Given the description of an element on the screen output the (x, y) to click on. 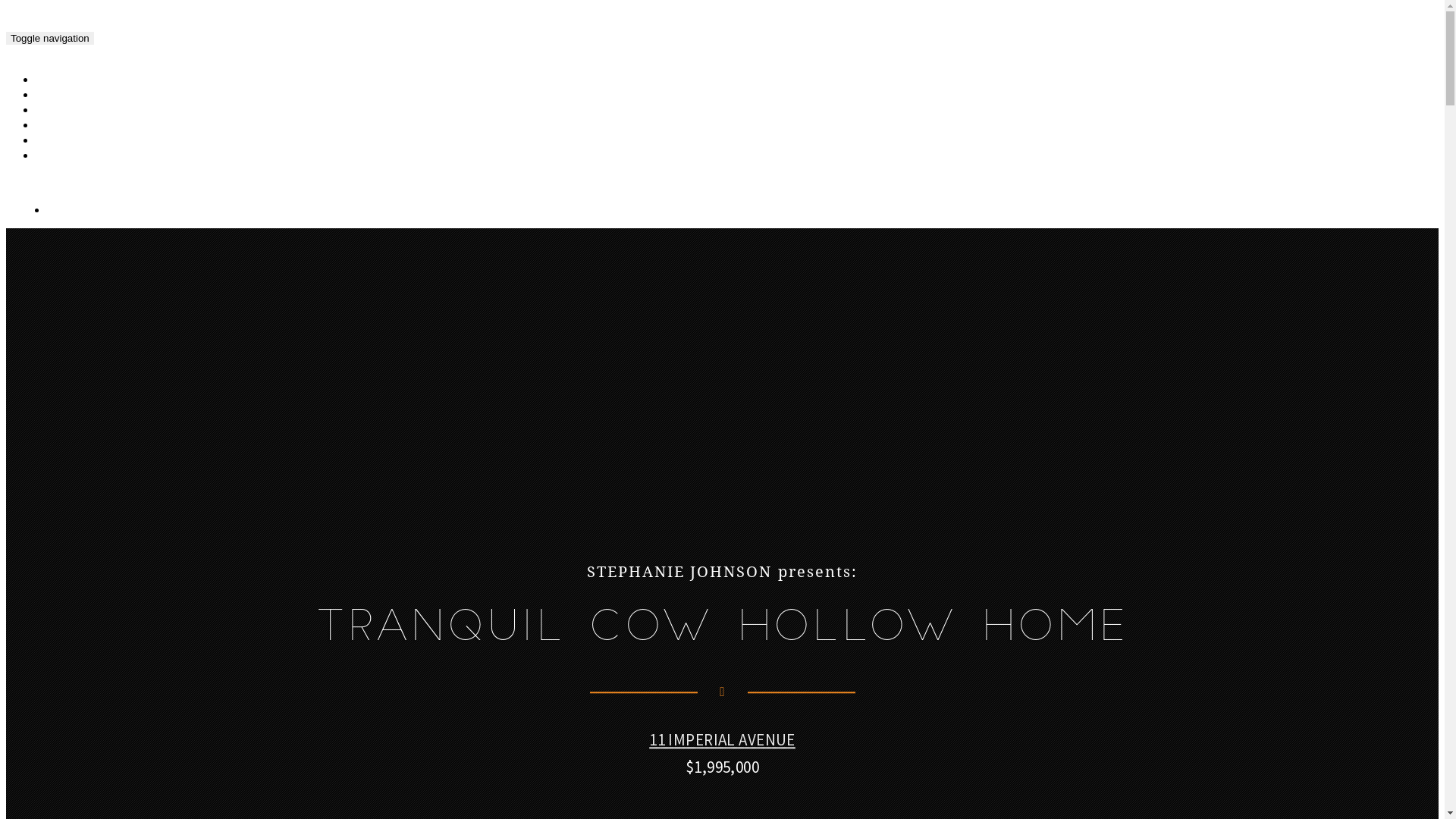
11 IMPERIAL AVENUE Element type: text (722, 739)
Toggle navigation Element type: text (50, 37)
SCHEDULE & CONTACT Element type: text (100, 155)
LOCATION Element type: text (70, 140)
11 Imperial Avenue Element type: text (192, 37)
FLOOR PLANS Element type: text (78, 110)
VIDEO TOUR Element type: text (75, 94)
FEATURES Element type: text (70, 125)
GALLERY Element type: text (66, 79)
